Given the description of an element on the screen output the (x, y) to click on. 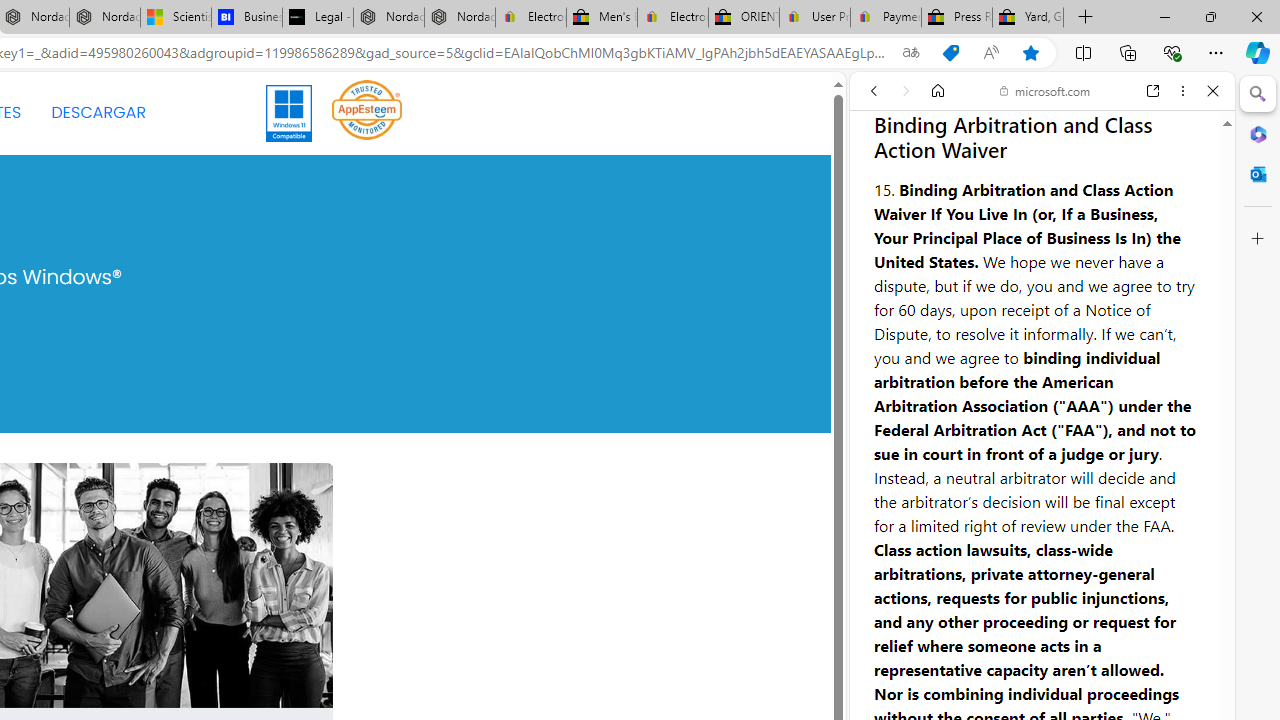
More options (1182, 91)
Press Room - eBay Inc. (956, 17)
DESCARGAR (98, 112)
Nordace - Summer Adventures 2024 (388, 17)
Show translate options (910, 53)
This site scope (936, 180)
